Given the description of an element on the screen output the (x, y) to click on. 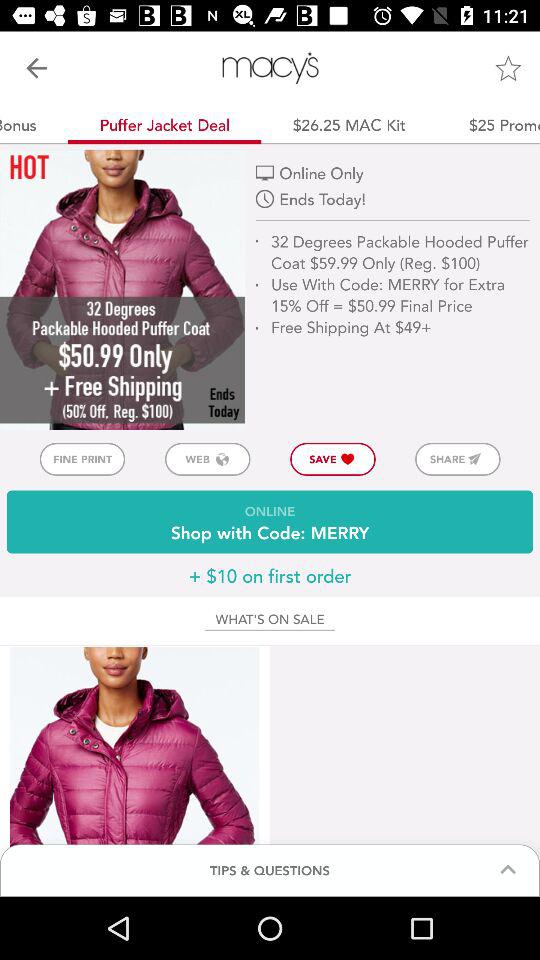
select the item next to the save icon (457, 458)
